Given the description of an element on the screen output the (x, y) to click on. 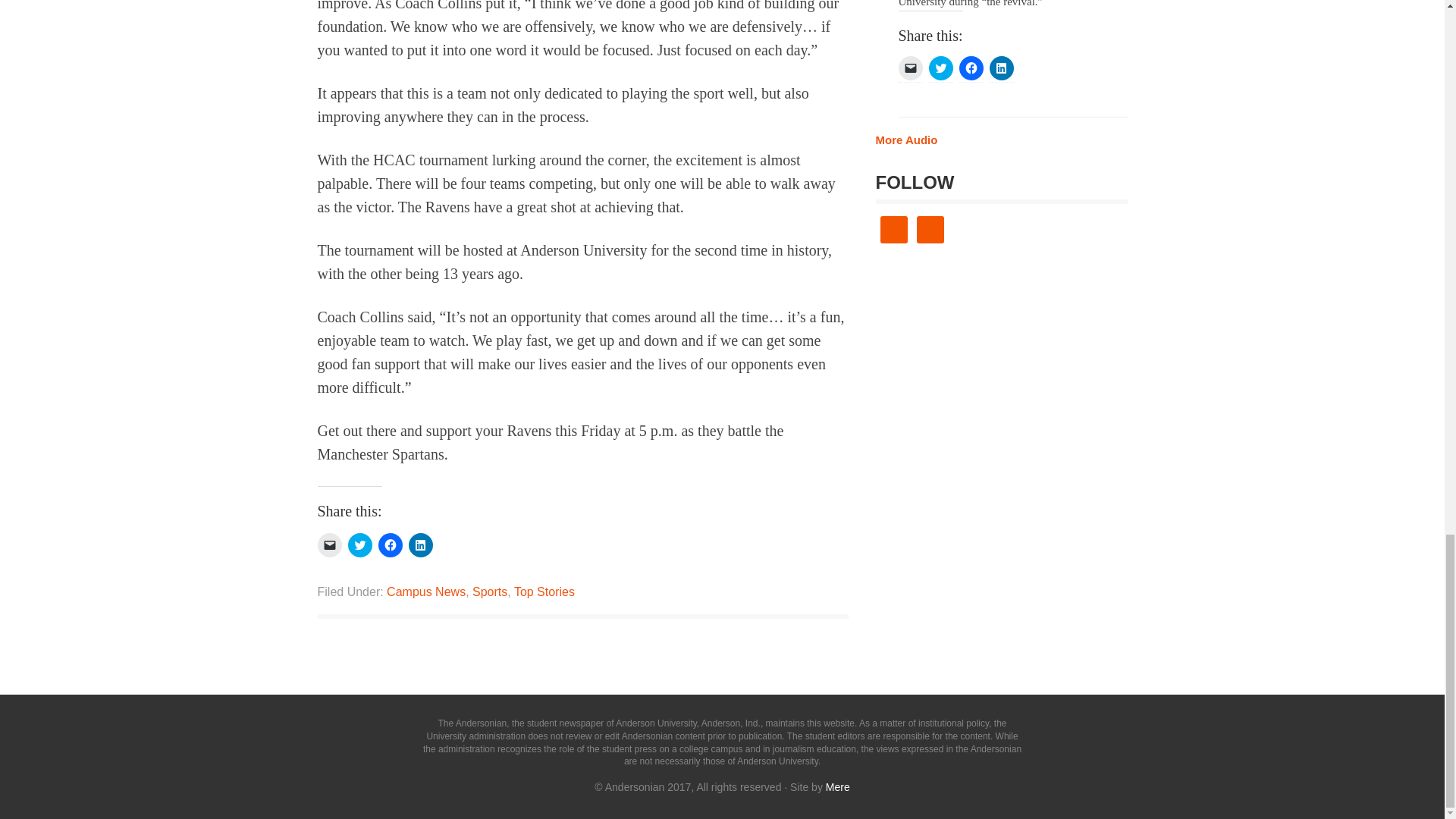
Click to share on LinkedIn (419, 545)
Top Stories (544, 591)
Campus News (426, 591)
Click to share on Twitter (359, 545)
Click to share on Facebook (389, 545)
Click to email a link to a friend (328, 545)
Sports (488, 591)
